Given the description of an element on the screen output the (x, y) to click on. 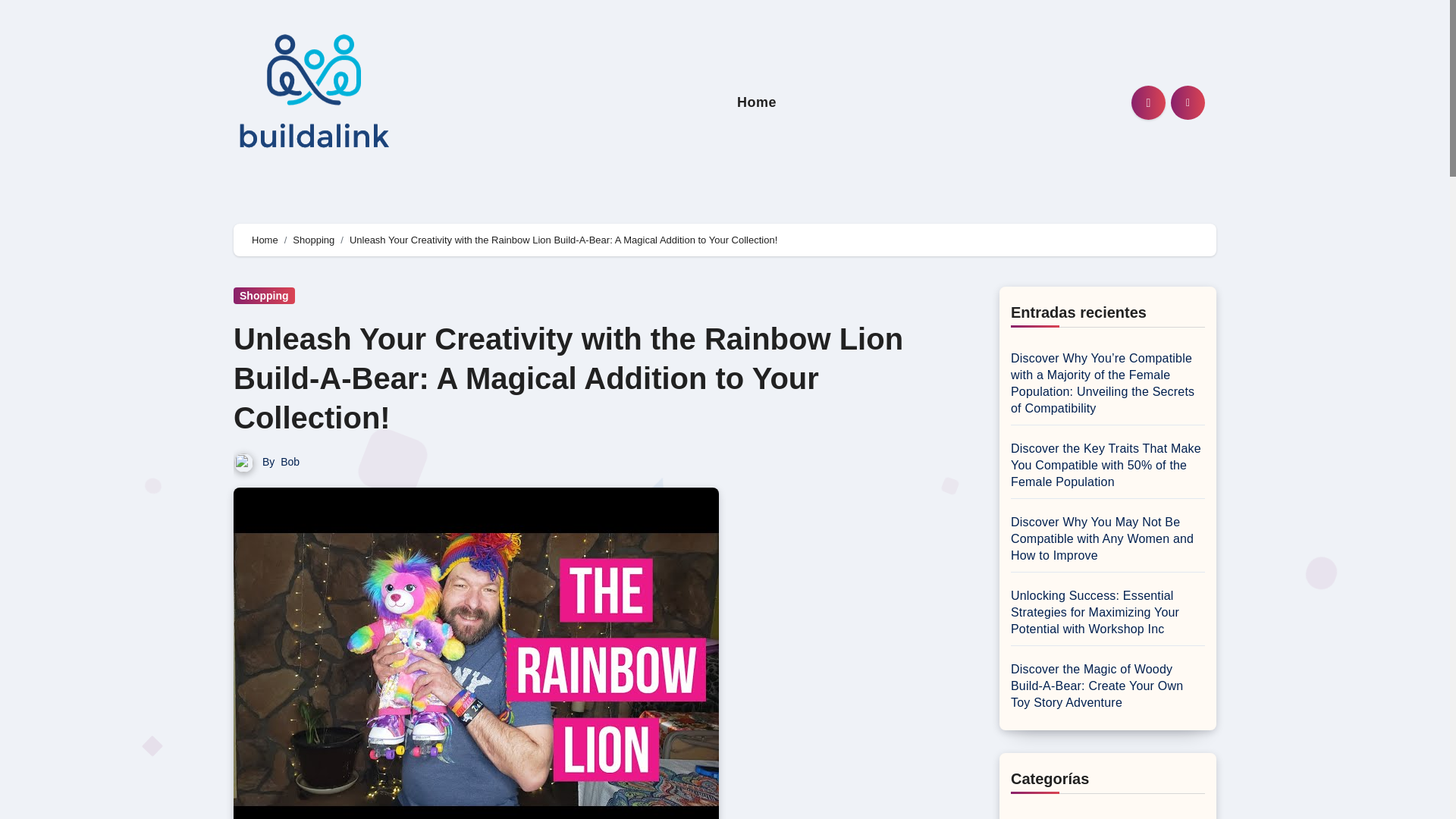
Shopping (313, 239)
Home (756, 102)
Home (264, 239)
Bob (290, 461)
Shopping (263, 295)
Home (756, 102)
